Given the description of an element on the screen output the (x, y) to click on. 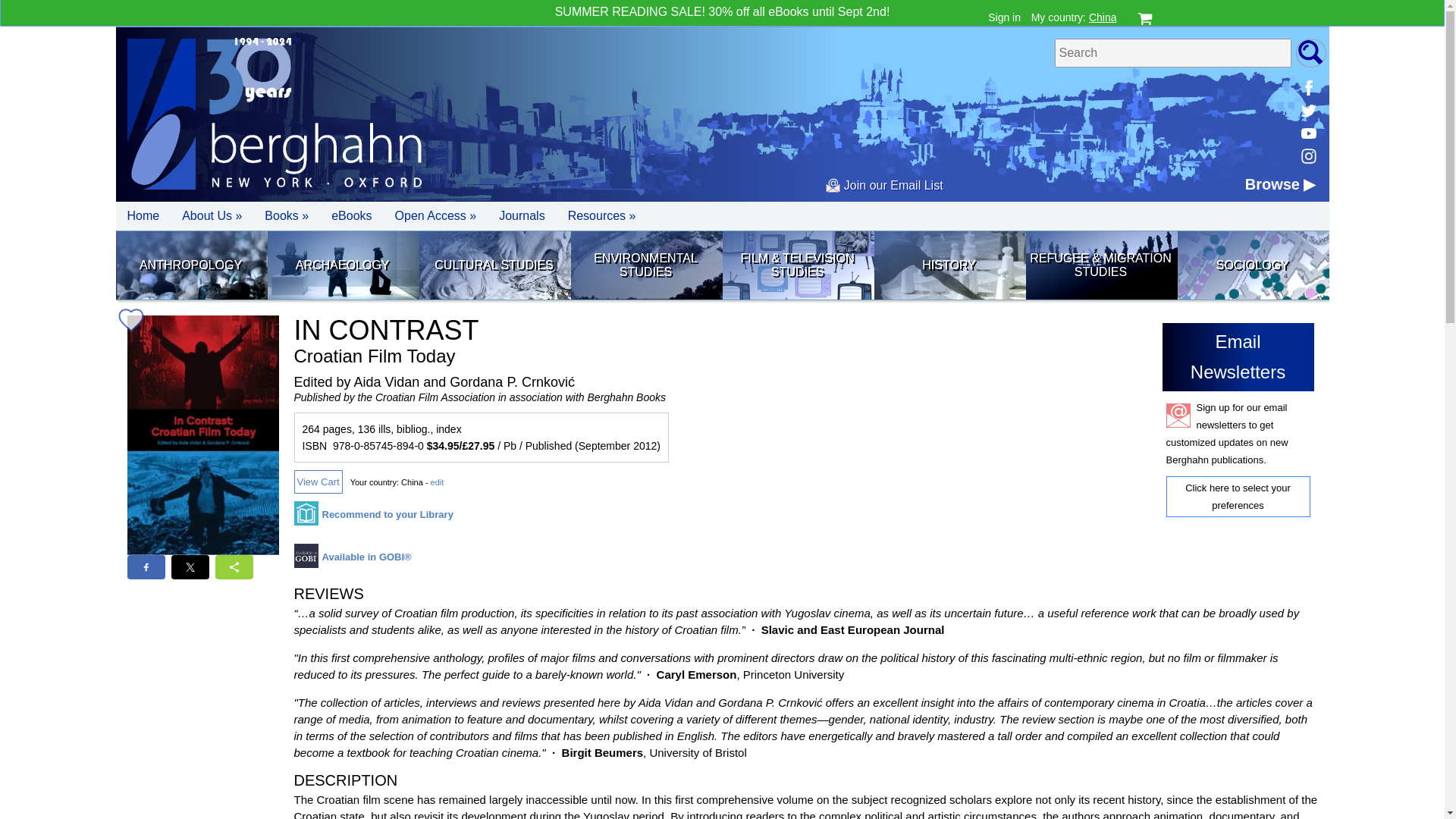
Berghahn Books on Youtube (1308, 133)
Environmental Studies (645, 265)
Film Studies (797, 265)
Available in GOBI (353, 560)
Browse (1280, 184)
History (948, 264)
Join our Email List (883, 185)
go (1310, 52)
Berghahn Books on Instagram (1308, 155)
Cultural Studies (494, 264)
go (1310, 52)
Berghahn Books on Facebook (1308, 87)
Sociology (1251, 264)
Anthropology (189, 264)
Archaeology (341, 264)
